Given the description of an element on the screen output the (x, y) to click on. 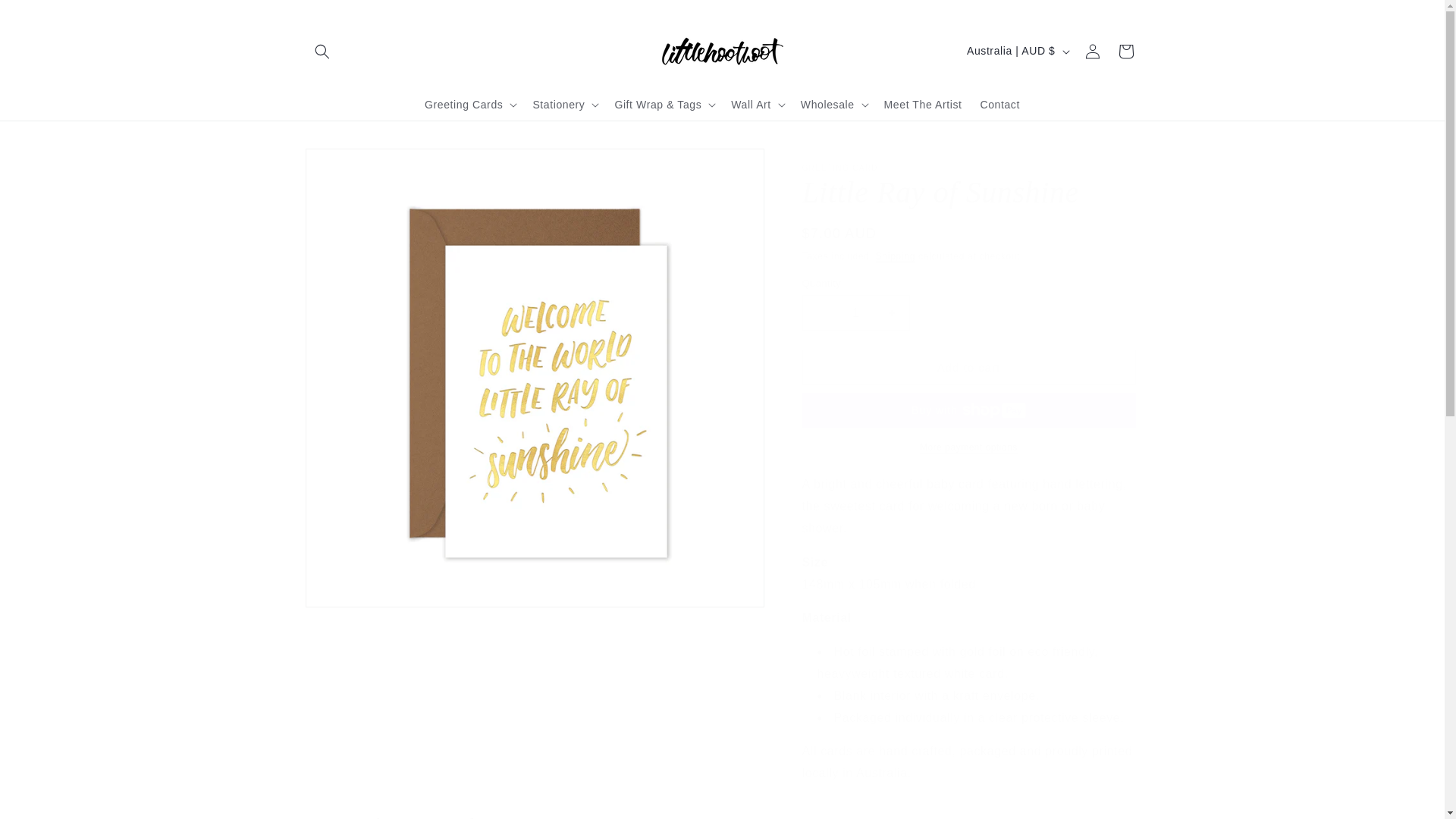
1 (856, 312)
Skip to content (45, 17)
